Given the description of an element on the screen output the (x, y) to click on. 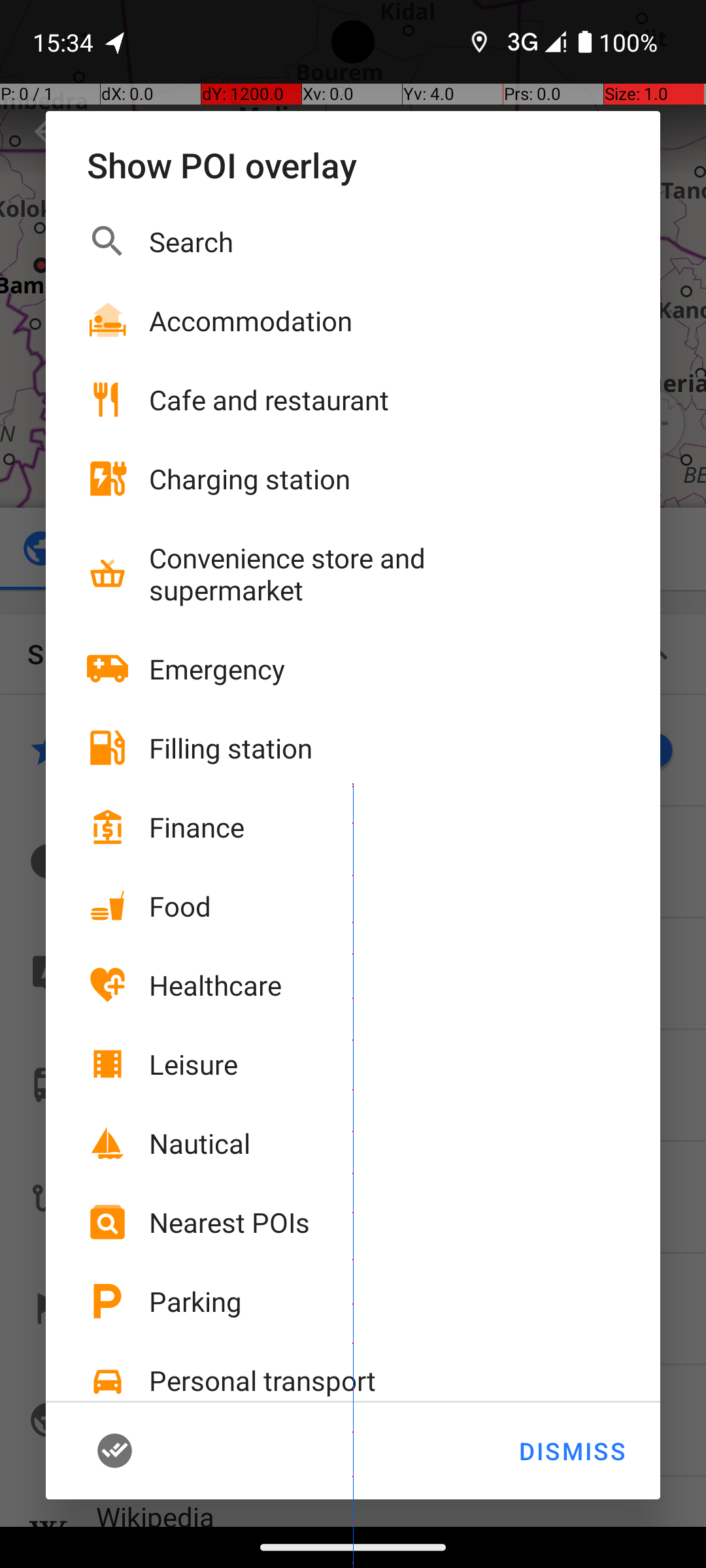
Show POI overlay Element type: android.widget.TextView (352, 164)
  Element type: android.widget.Button (135, 1450)
DISMISS Element type: android.widget.Button (571, 1450)
Accommodation Element type: android.widget.TextView (250, 320)
Cafe and restaurant Element type: android.widget.TextView (269, 399)
Charging station Element type: android.widget.TextView (249, 478)
Convenience store and supermarket Element type: android.widget.TextView (359, 573)
Emergency Element type: android.widget.TextView (217, 668)
Filling station Element type: android.widget.TextView (230, 747)
Healthcare Element type: android.widget.TextView (215, 984)
Leisure Element type: android.widget.TextView (193, 1063)
Nautical Element type: android.widget.TextView (199, 1142)
Nearest POIs Element type: android.widget.TextView (229, 1221)
Parking Element type: android.widget.TextView (195, 1300)
Personal transport Element type: android.widget.TextView (262, 1379)
